Given the description of an element on the screen output the (x, y) to click on. 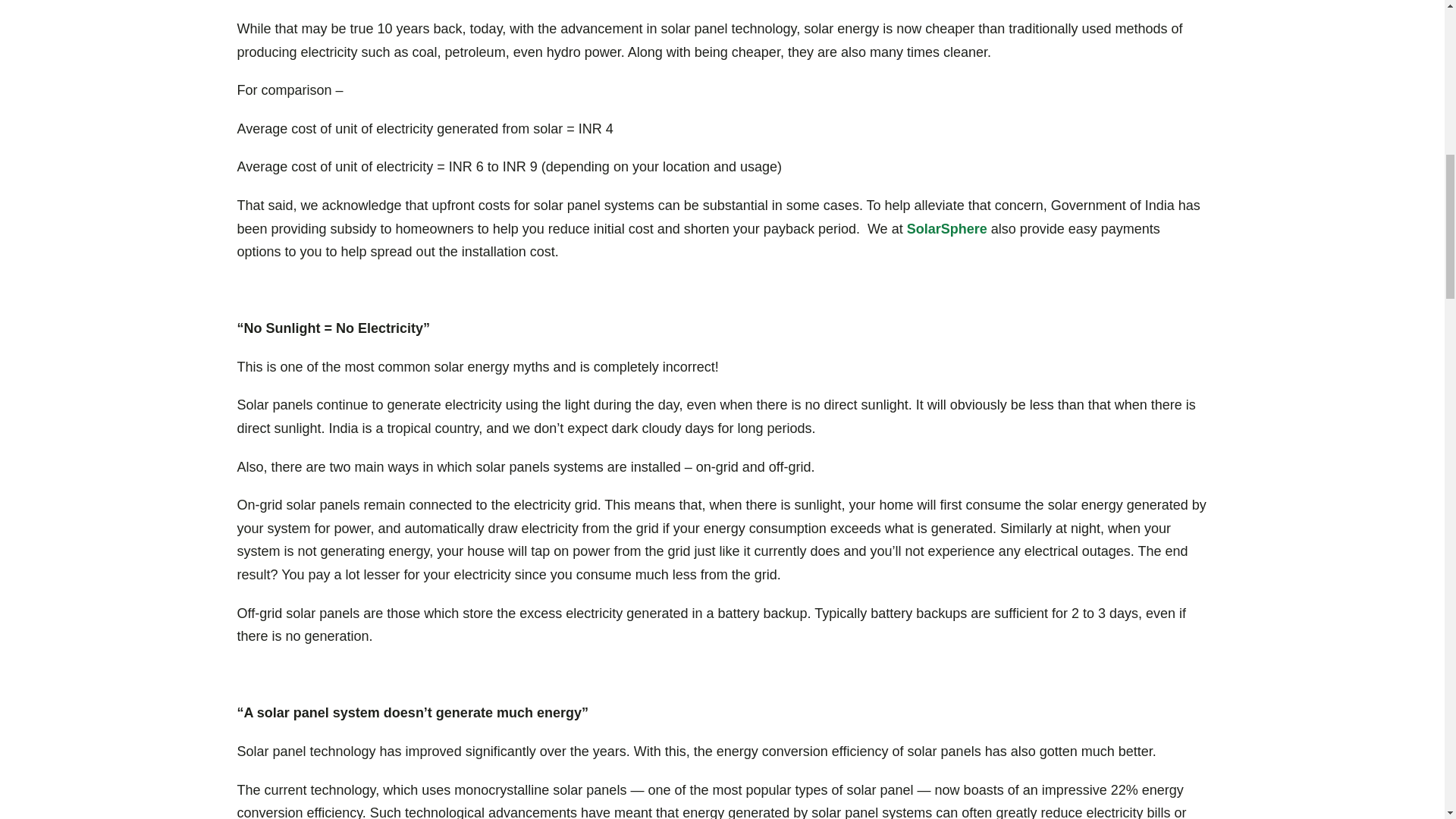
SolarSphere (947, 228)
